Given the description of an element on the screen output the (x, y) to click on. 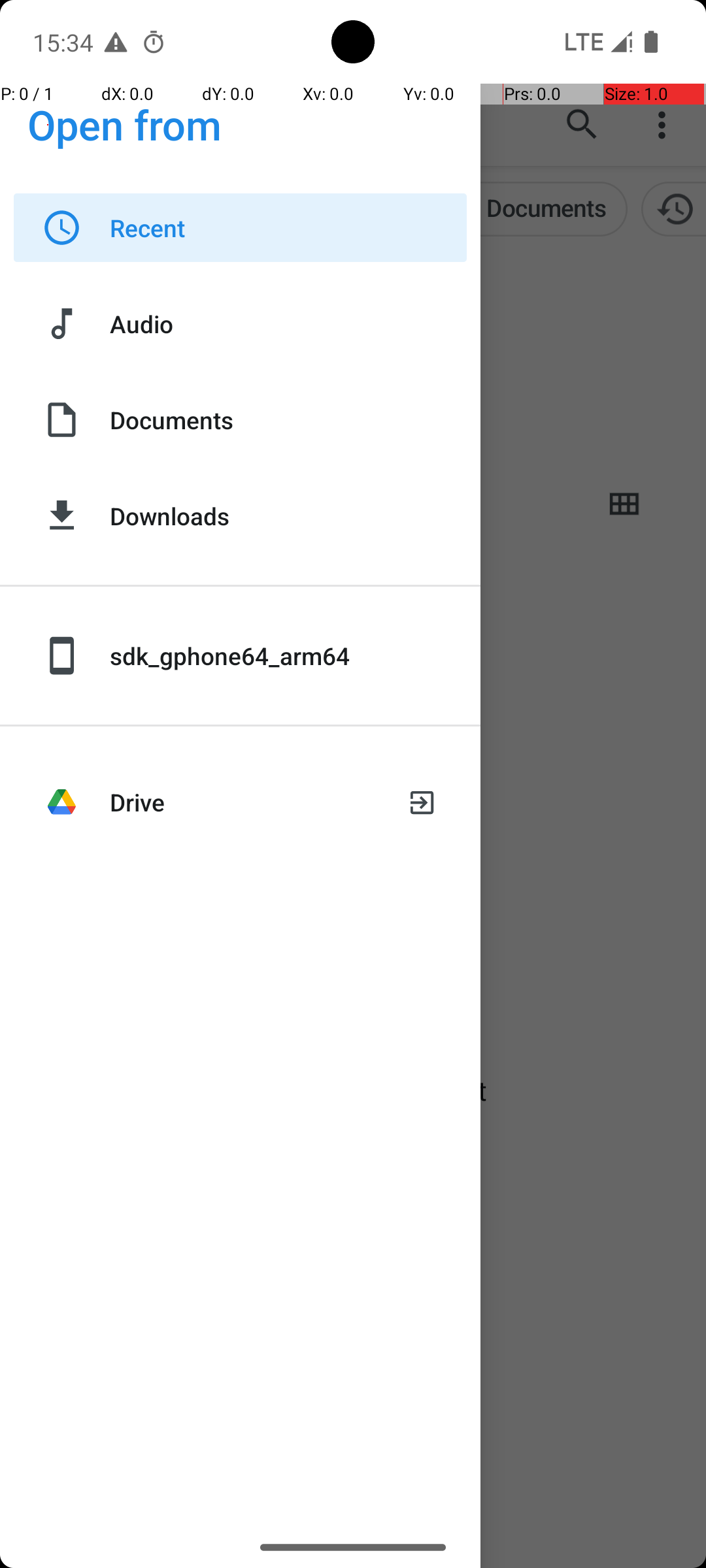
Open from Element type: android.widget.TextView (124, 124)
Drive Element type: android.widget.TextView (246, 801)
